Given the description of an element on the screen output the (x, y) to click on. 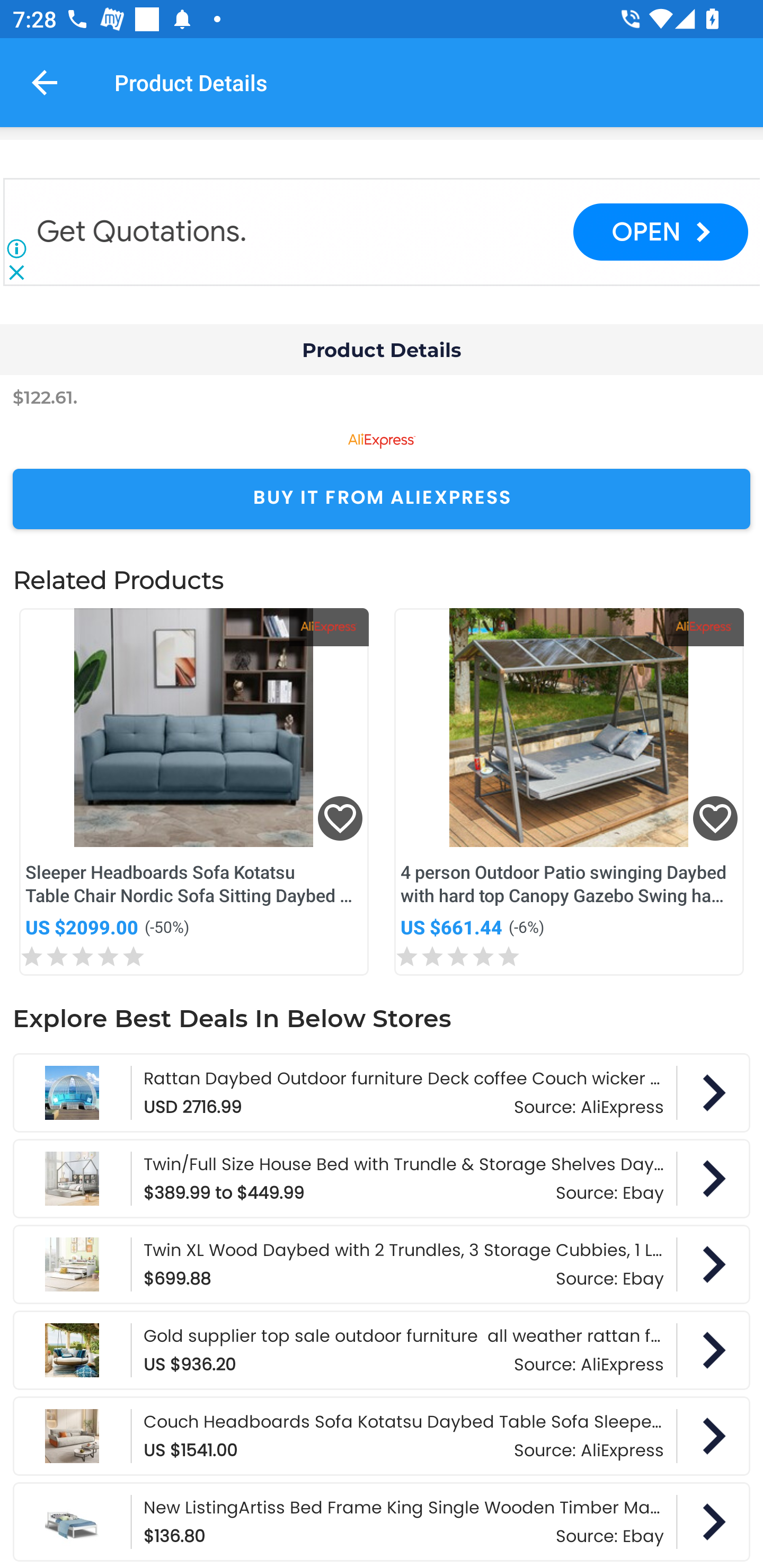
Navigate up (44, 82)
OPEN (660, 231)
Get Quotations. (141, 231)
BUY IT FROM ALIEXPRESS (381, 499)
